Given the description of an element on the screen output the (x, y) to click on. 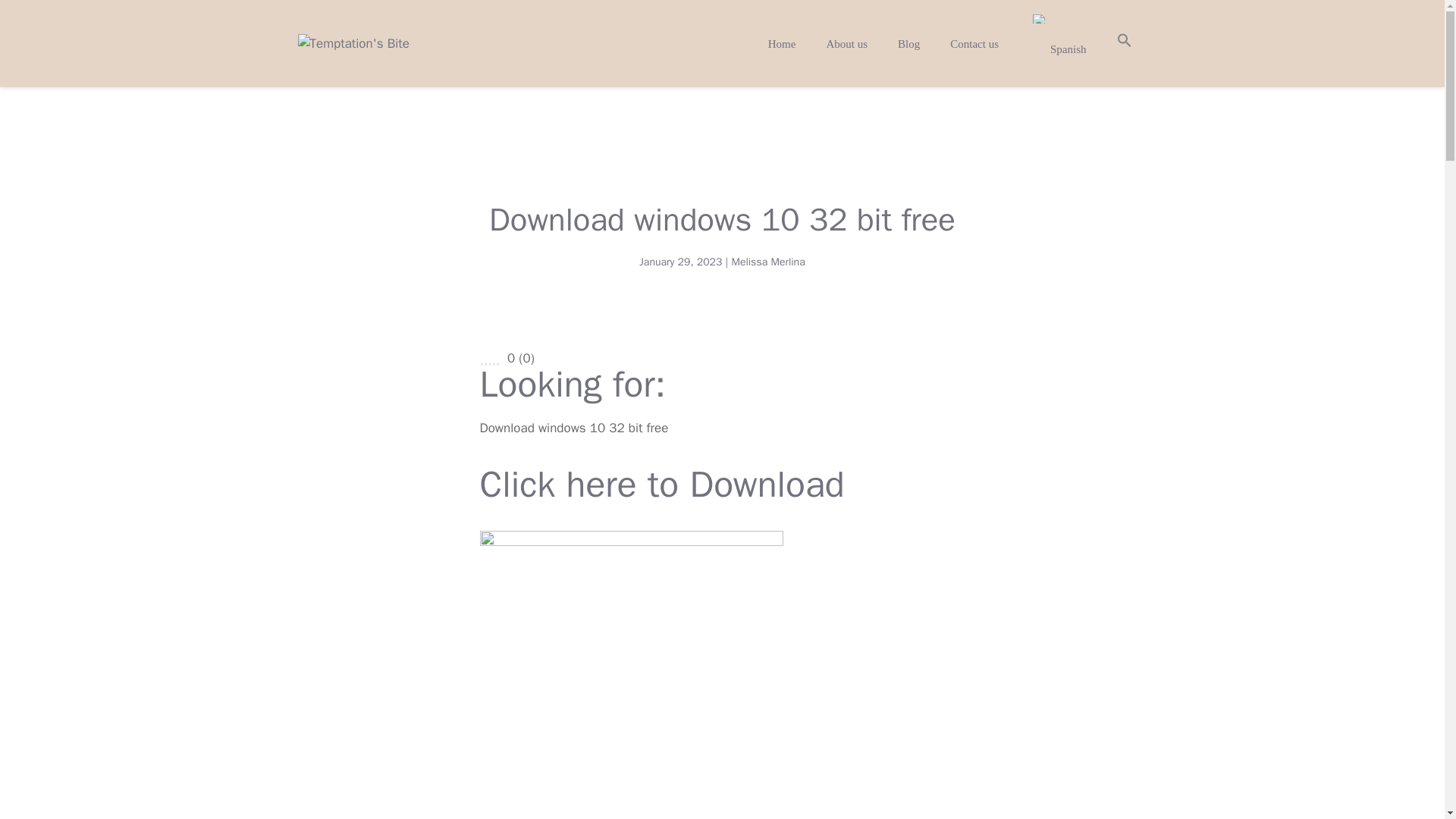
Home (781, 43)
Temptation's Bite (353, 42)
Spanish (1057, 43)
Melissa Merlina (767, 261)
Temptation's Bite (353, 44)
Contact us (973, 43)
Blog (908, 43)
Spanish (1039, 18)
About us (846, 43)
Click here to Download (661, 492)
